Given the description of an element on the screen output the (x, y) to click on. 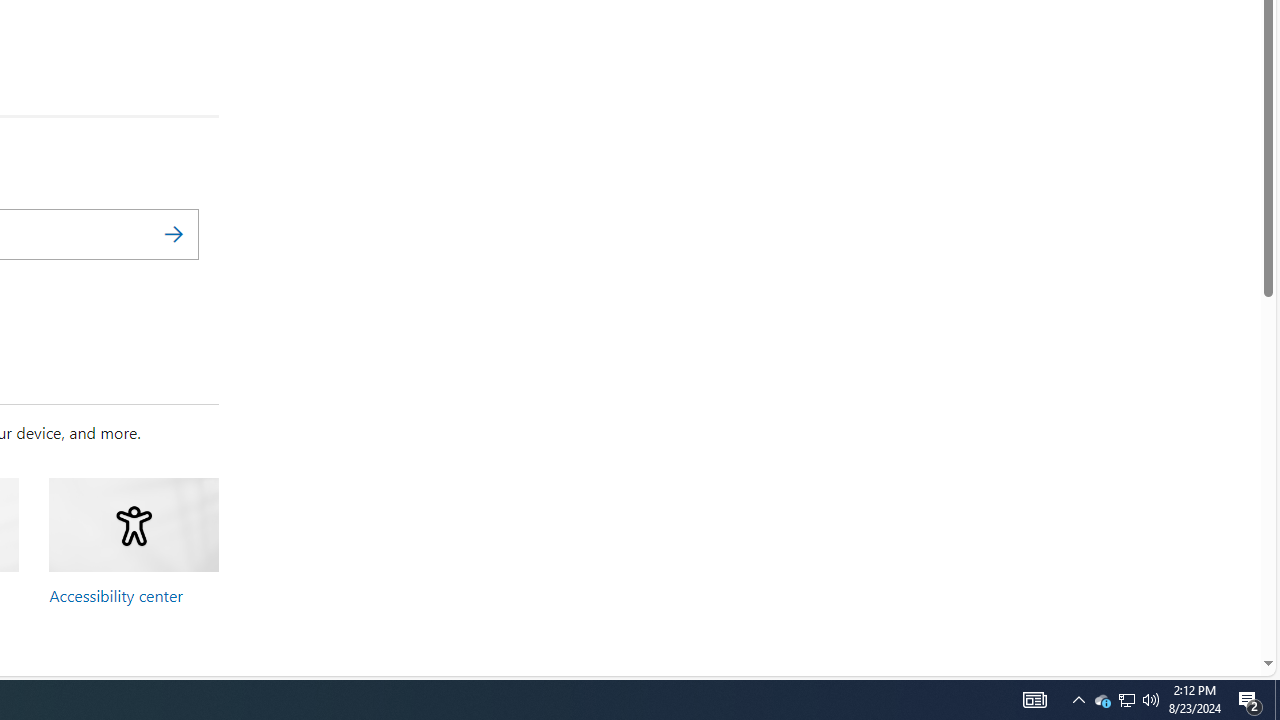
Search (173, 233)
Accessibility center (115, 595)
